Given the description of an element on the screen output the (x, y) to click on. 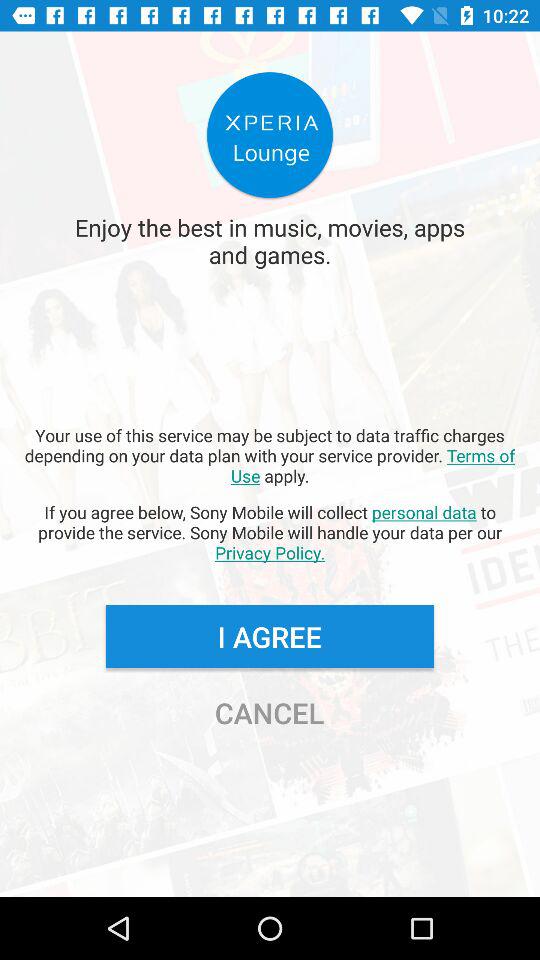
select the icon below i agree icon (269, 712)
